Given the description of an element on the screen output the (x, y) to click on. 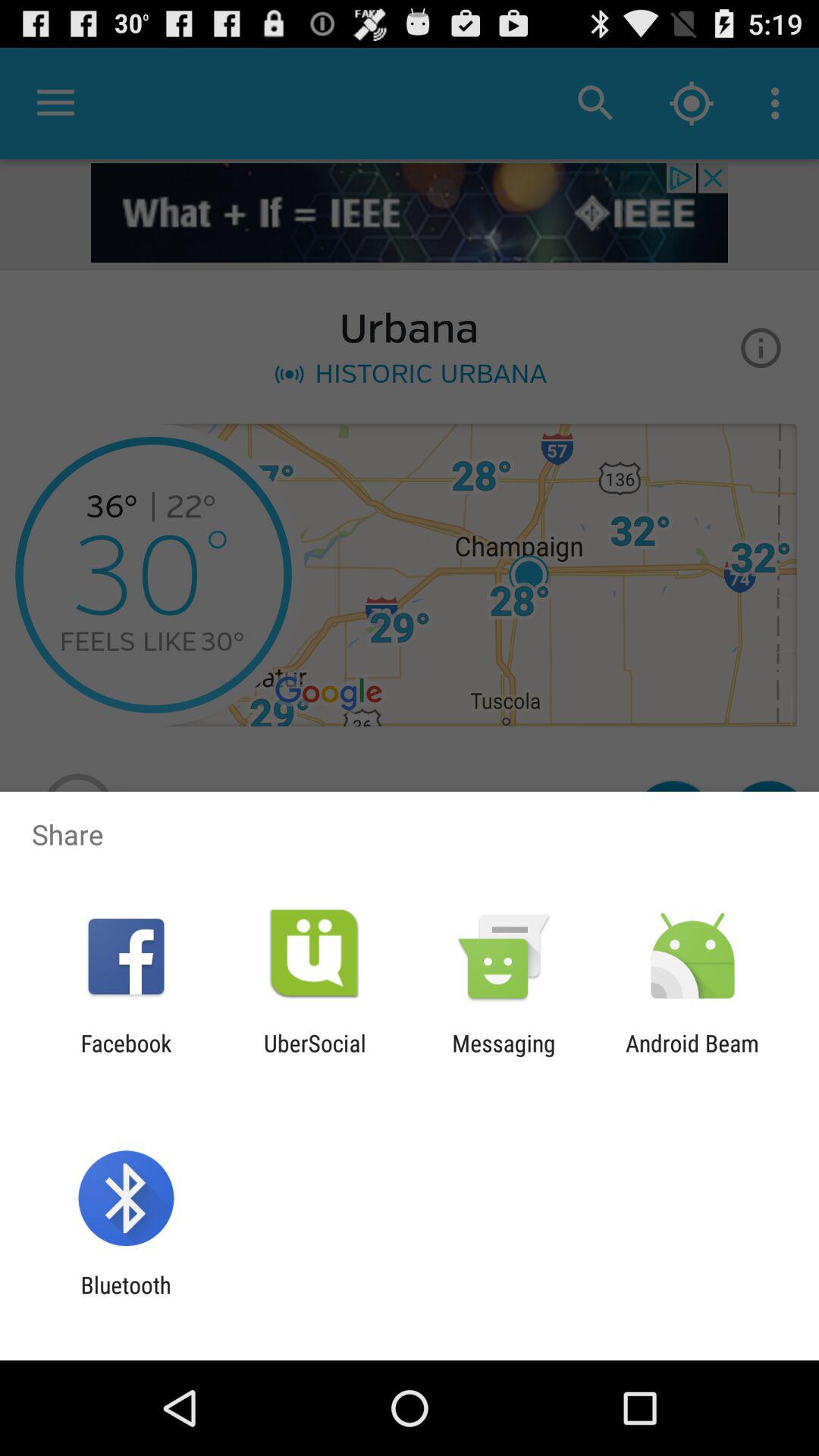
turn off icon to the right of the facebook icon (314, 1056)
